Given the description of an element on the screen output the (x, y) to click on. 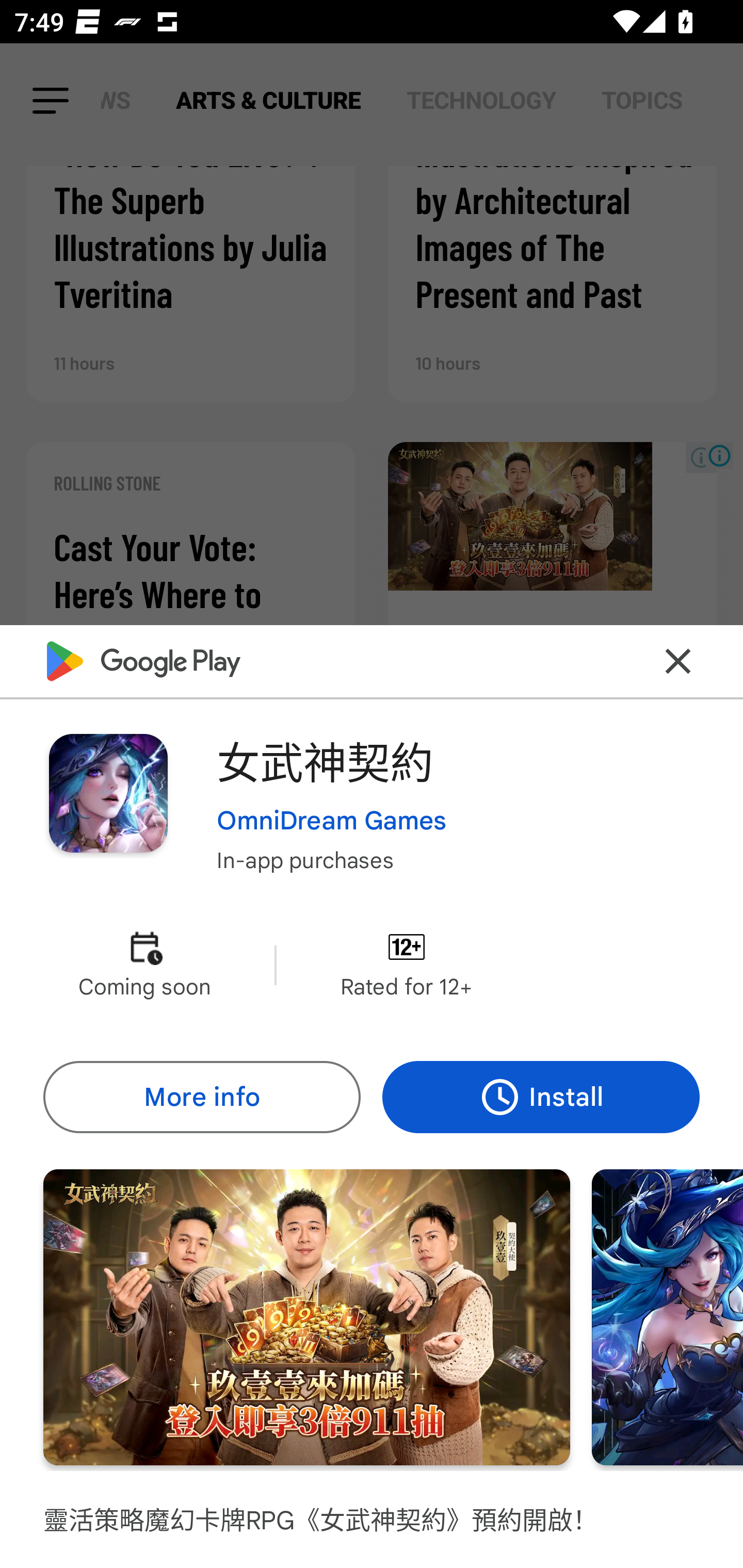
Close (677, 661)
Image of app or game icon for 女武神契約 (108, 792)
OmniDream Games (331, 820)
More info (201, 1097)
Install (540, 1097)
Screenshot "1" of "5" (306, 1317)
